Given the description of an element on the screen output the (x, y) to click on. 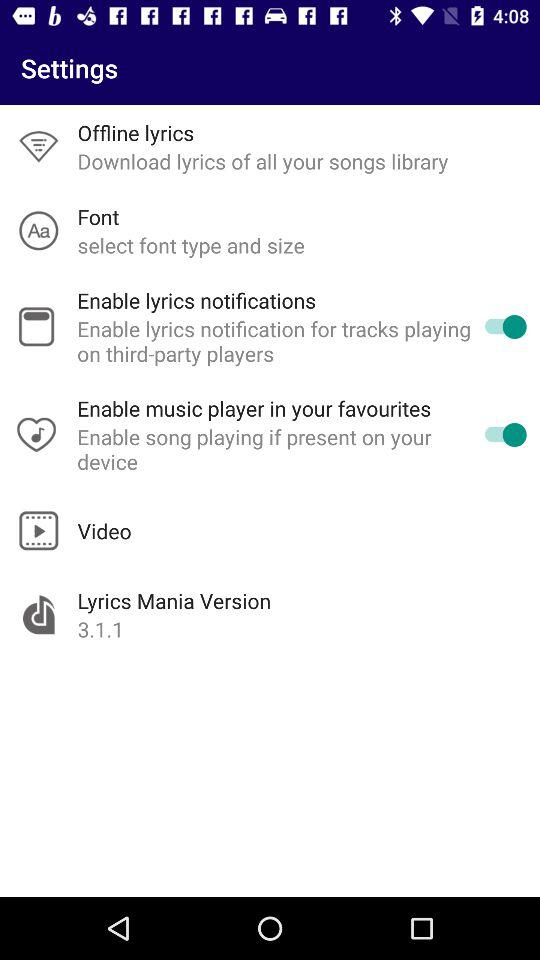
turn off app below offline lyrics (262, 161)
